Given the description of an element on the screen output the (x, y) to click on. 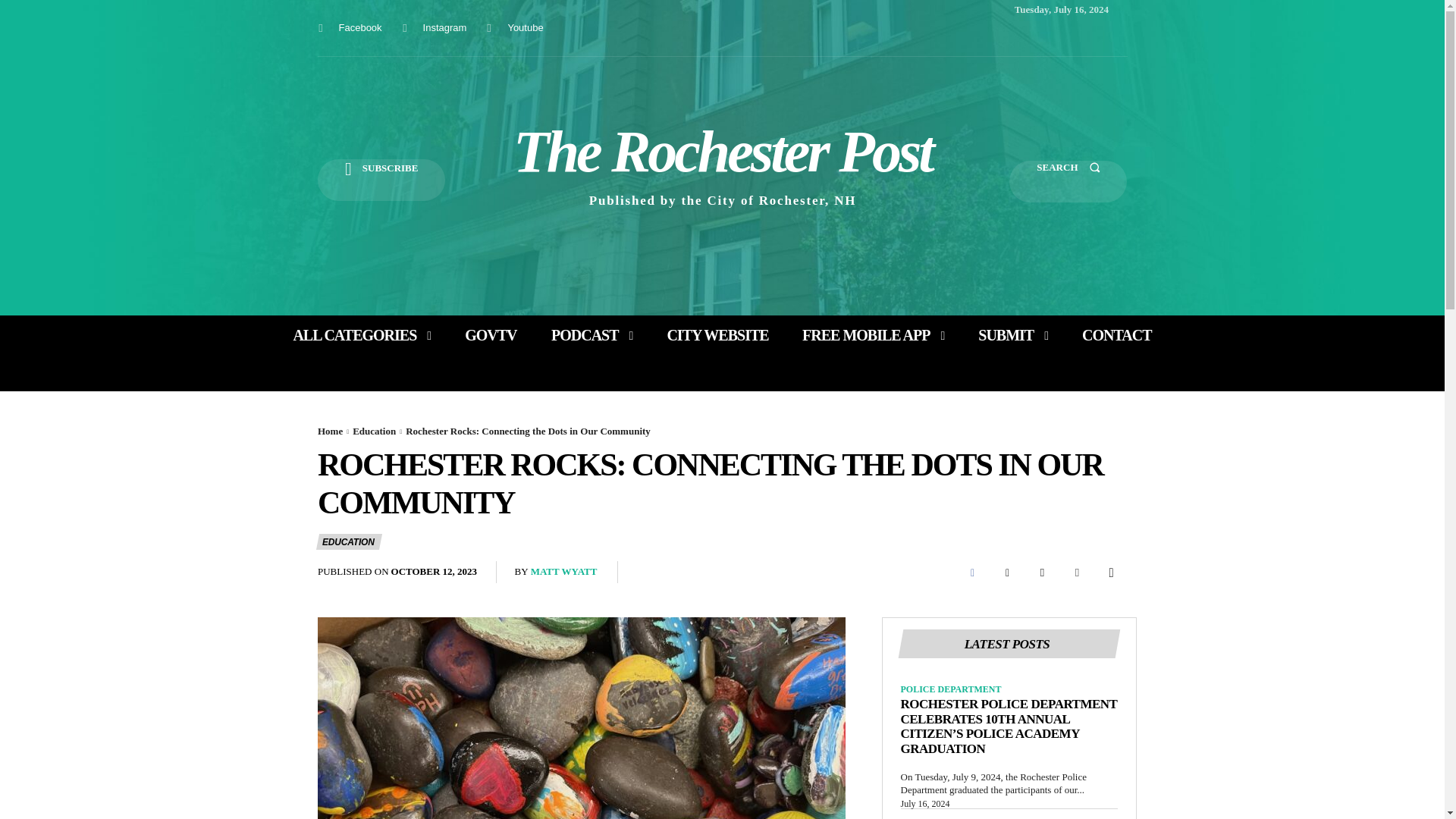
Search (1067, 181)
Facebook (320, 27)
Facebook (971, 572)
View all posts in Education (374, 430)
Print (1076, 572)
Email (1041, 572)
Instagram (404, 27)
Instagram (445, 27)
Copy URL (1111, 572)
Twitter (1006, 572)
Youtube (488, 27)
Facebook (359, 27)
Subscribe (380, 179)
